Given the description of an element on the screen output the (x, y) to click on. 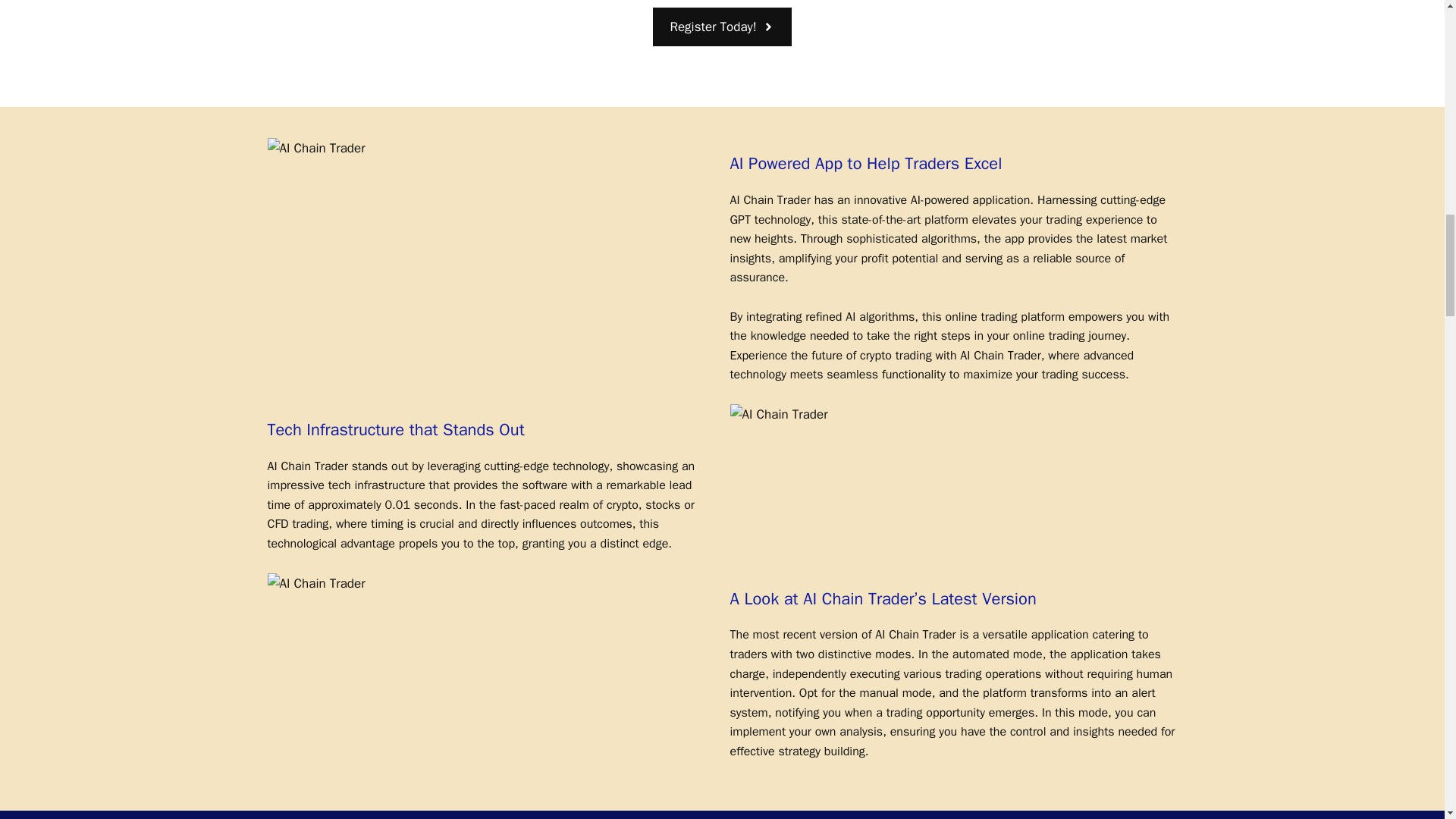
AI Chain Trader (778, 414)
Register Today! (721, 26)
AI Chain Trader (315, 583)
AI Chain Trader (315, 148)
